Given the description of an element on the screen output the (x, y) to click on. 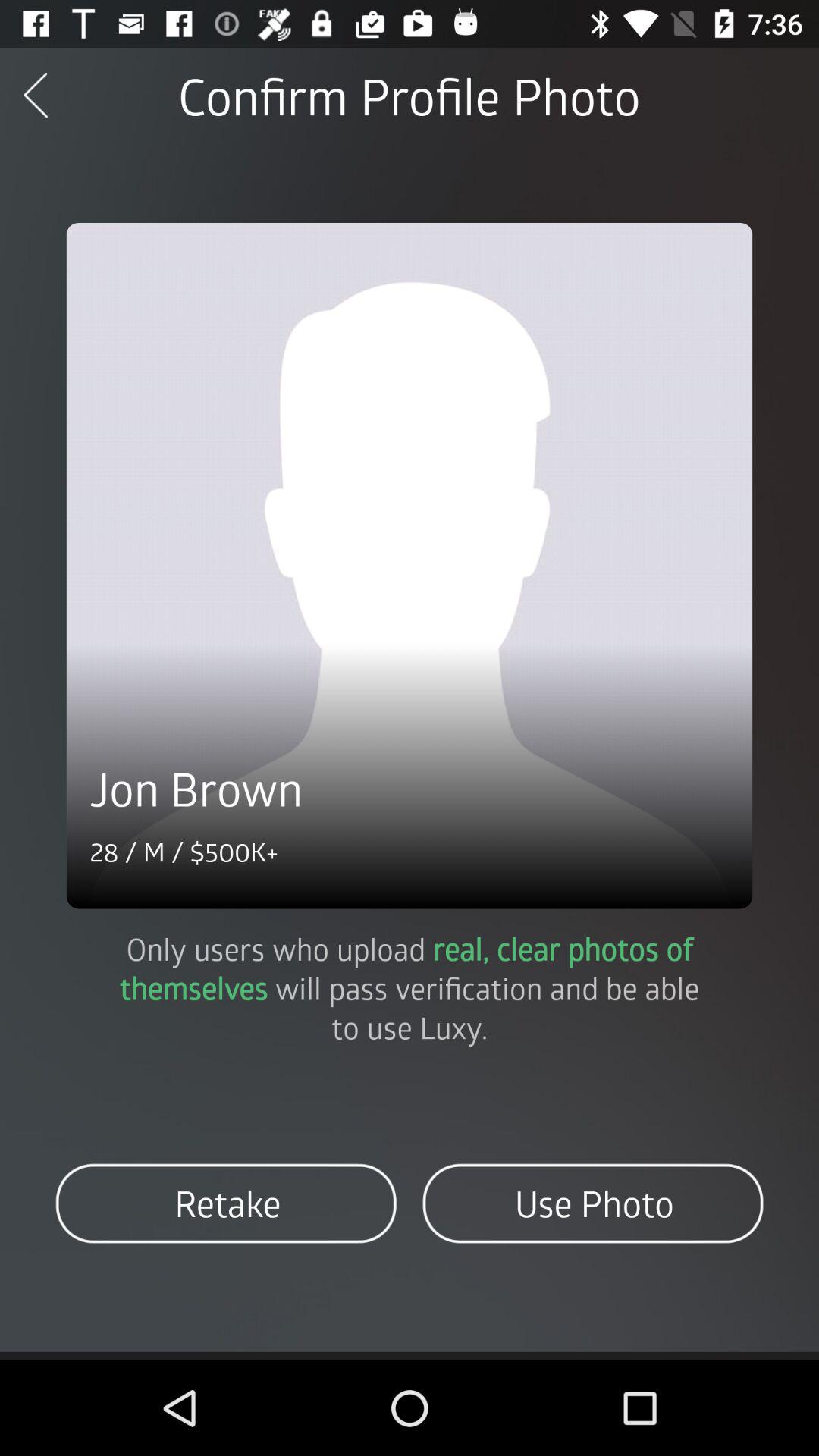
press the item next to the retake (592, 1203)
